Given the description of an element on the screen output the (x, y) to click on. 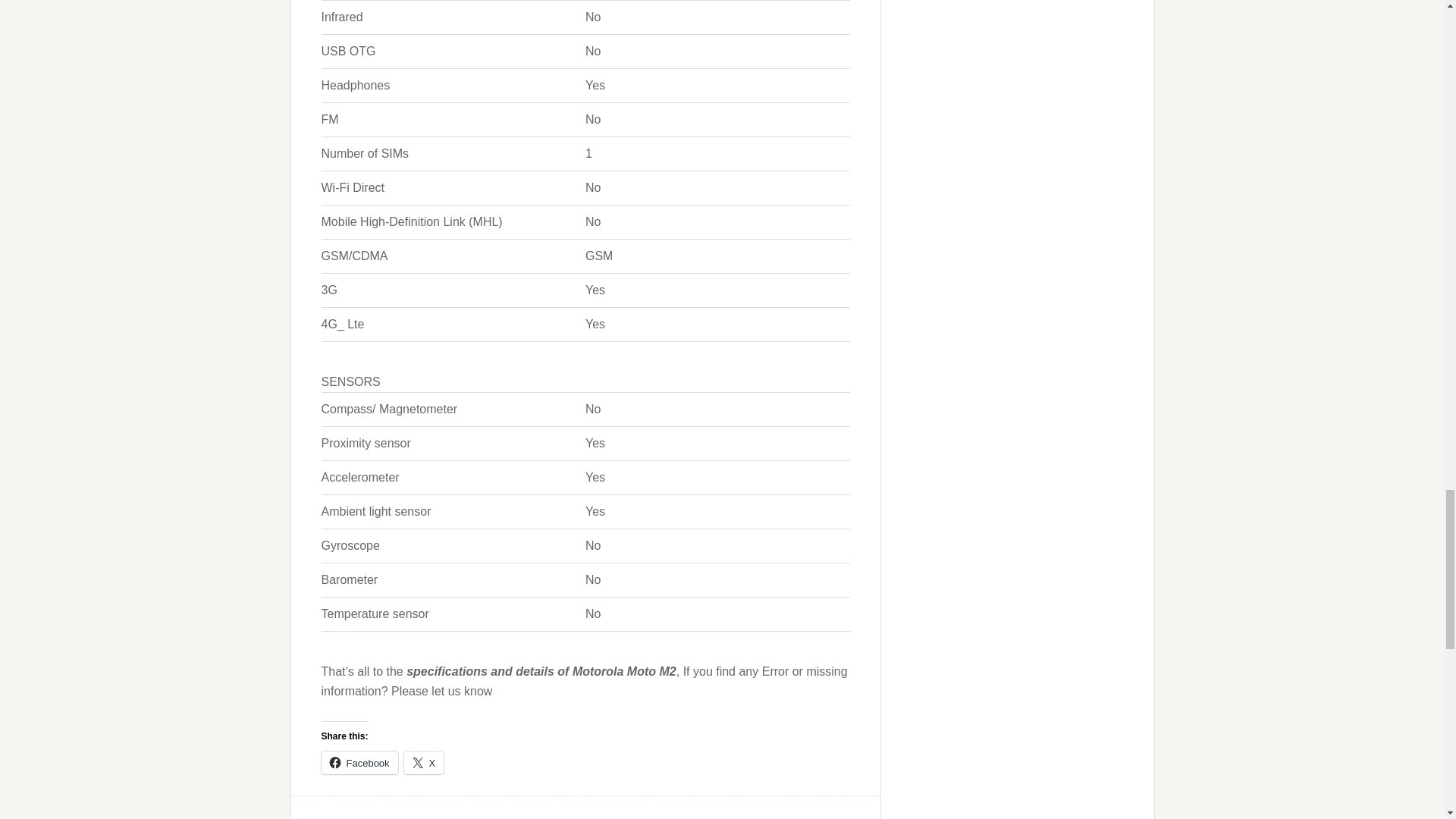
Click to share on Facebook (359, 762)
Facebook (359, 762)
X (424, 762)
Click to share on X (424, 762)
